Given the description of an element on the screen output the (x, y) to click on. 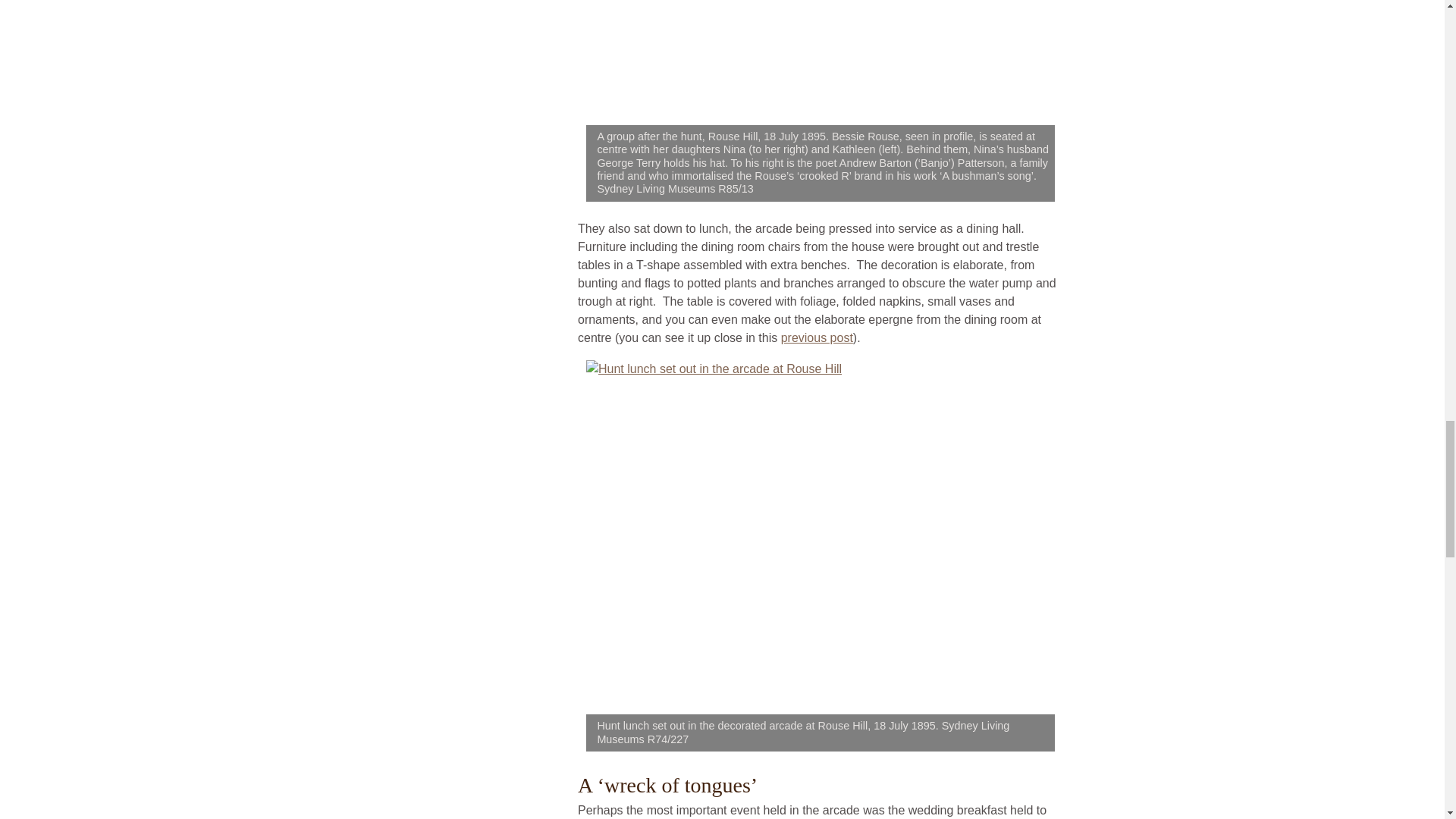
Dining a la Rouse post (816, 337)
After the Hunt (820, 62)
previous post (816, 337)
